Given the description of an element on the screen output the (x, y) to click on. 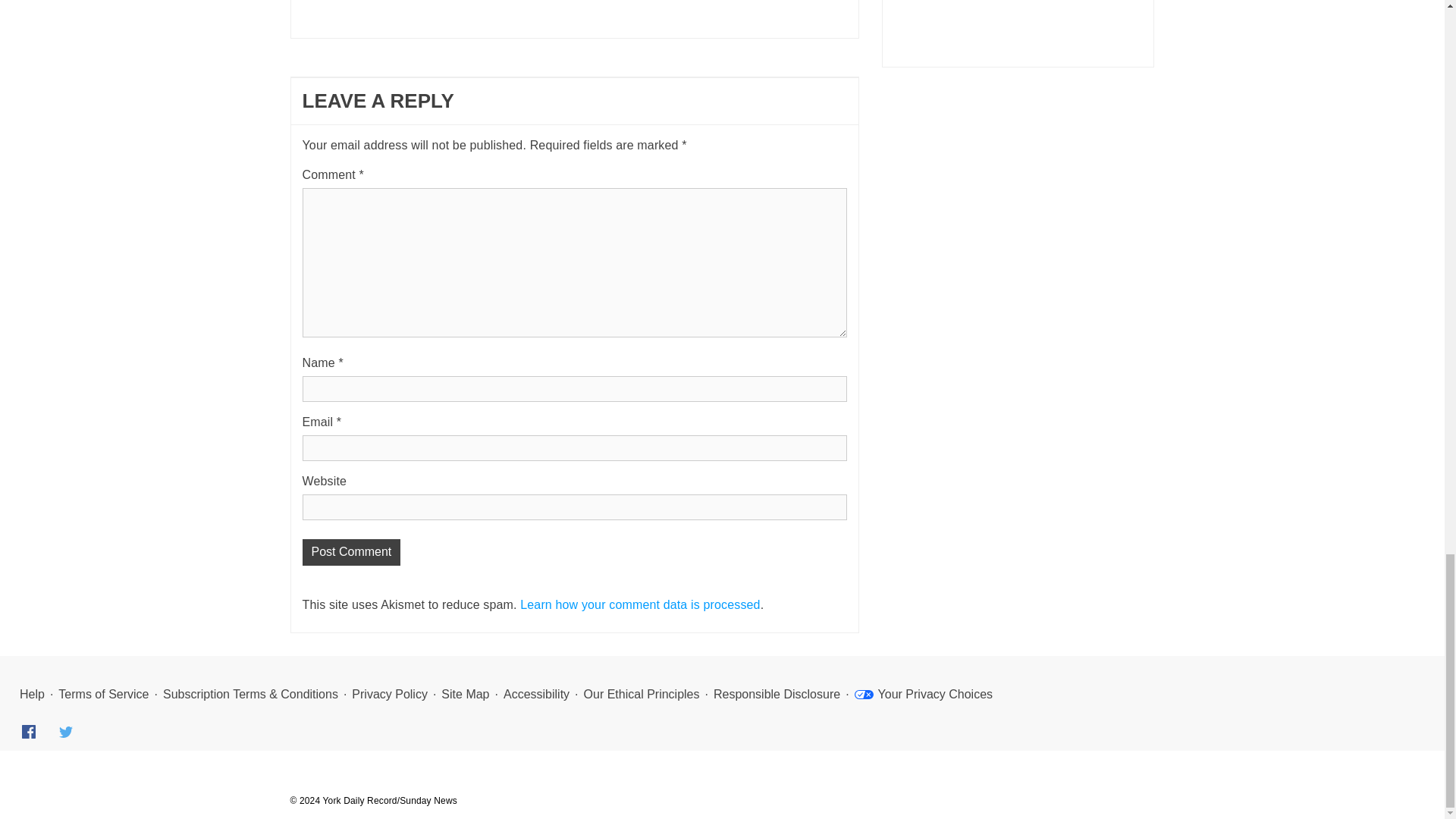
Learn how your comment data is processed (639, 604)
Post Comment (350, 551)
Post Comment (350, 551)
